Given the description of an element on the screen output the (x, y) to click on. 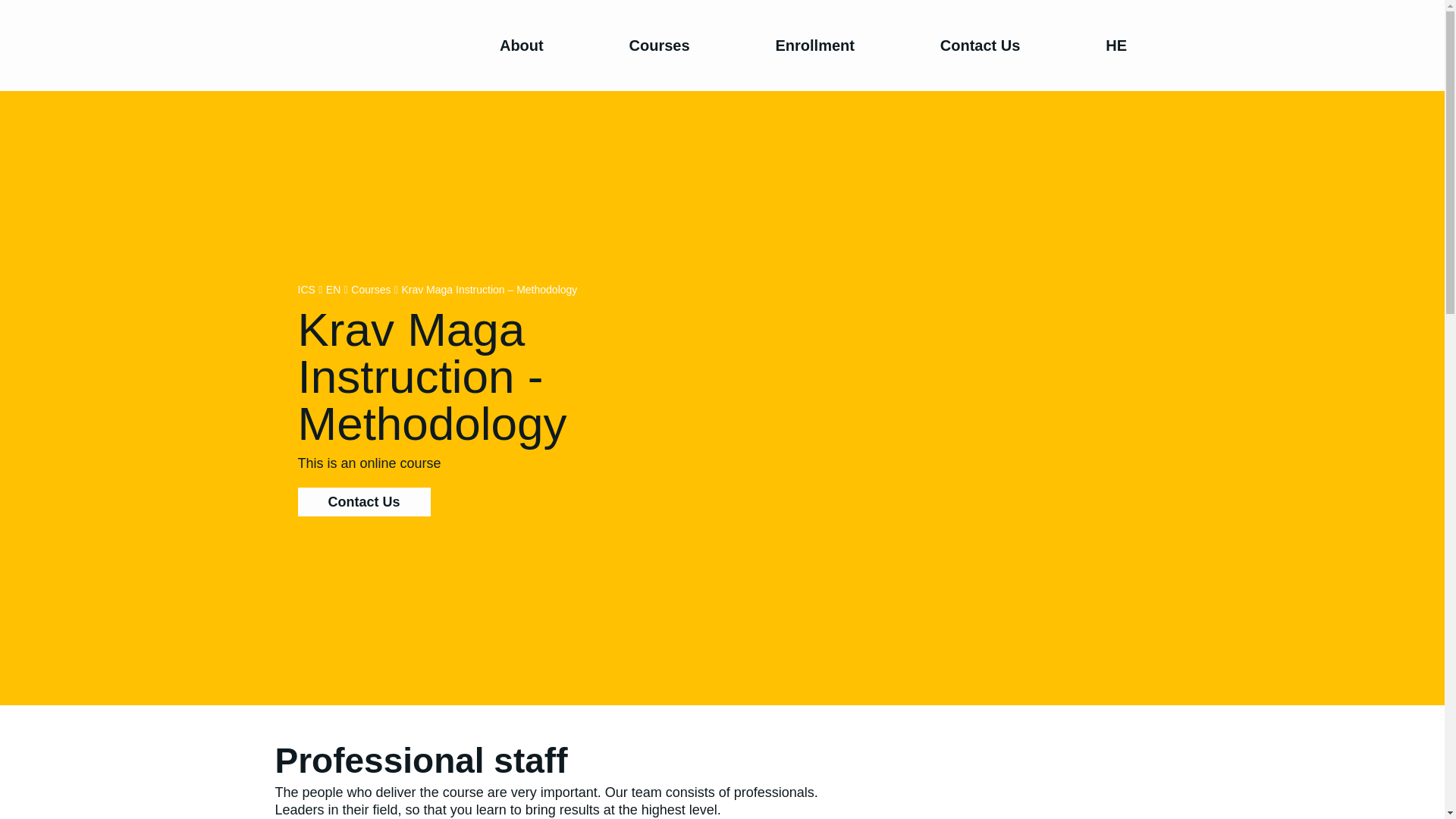
Enrollment (814, 45)
Courses (370, 290)
HE (1116, 45)
Contact Us (363, 501)
Courses (370, 290)
About (521, 45)
Contact Us (979, 45)
Courses (659, 45)
